Given the description of an element on the screen output the (x, y) to click on. 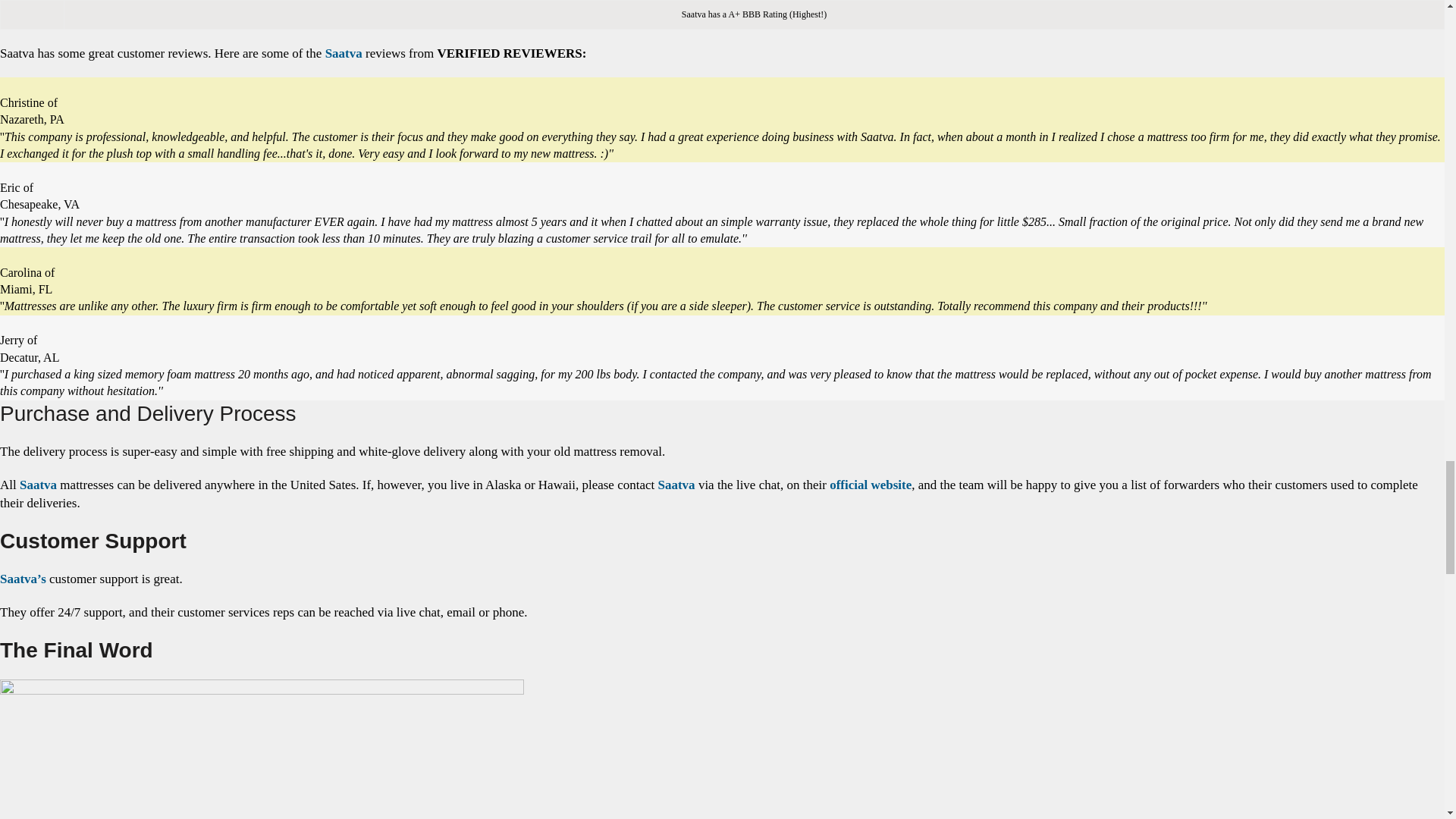
official website (870, 484)
Saatva (676, 484)
Saatva (38, 484)
Saatva (343, 52)
